Given the description of an element on the screen output the (x, y) to click on. 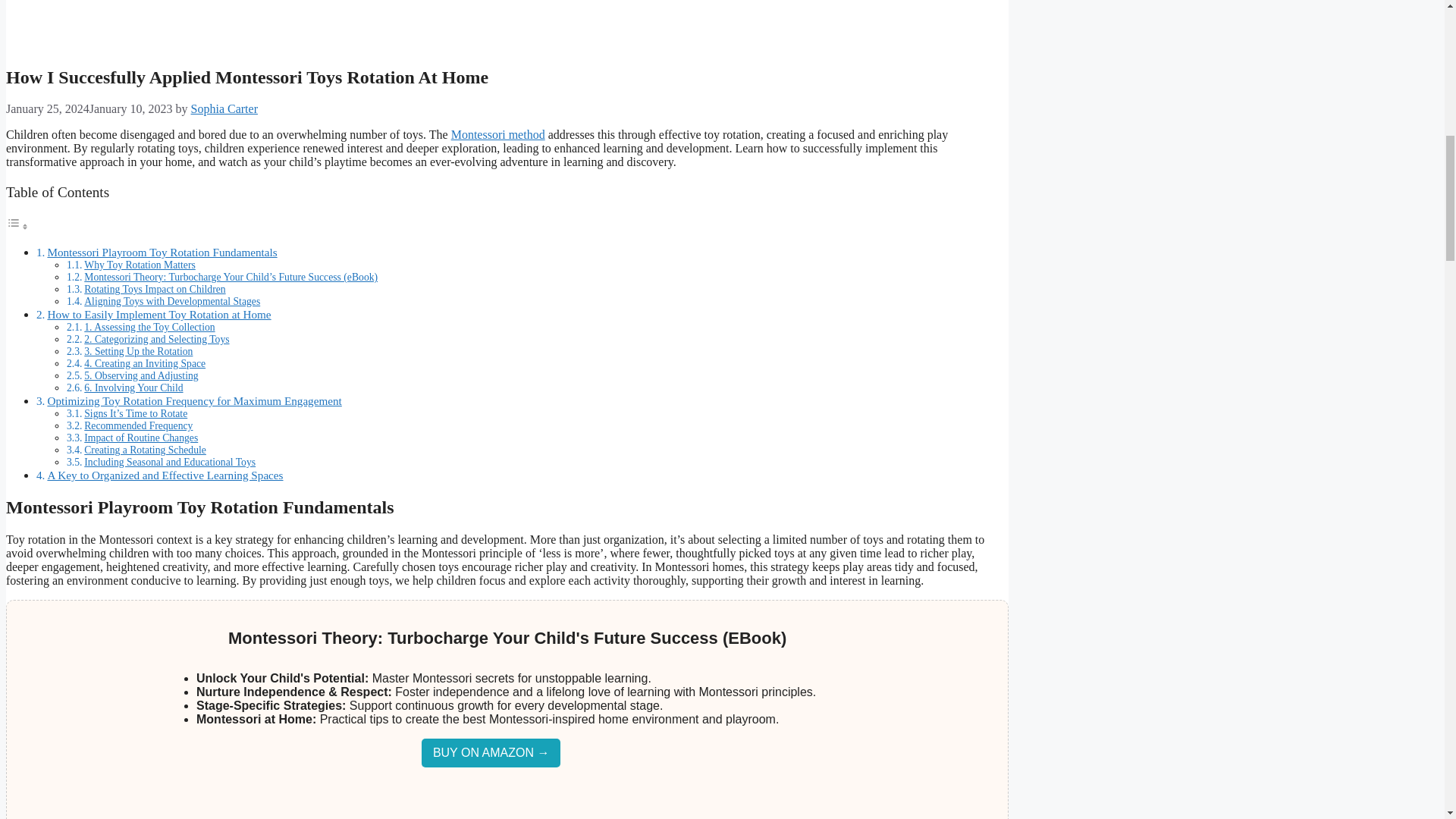
3. Setting Up the Rotation (138, 351)
Rotating Toys Impact on Children (154, 288)
Why Toy Rotation Matters (139, 265)
Including Seasonal and Educational Toys (170, 461)
1. Assessing the Toy Collection (149, 326)
Aligning Toys with Developmental Stages (172, 301)
Why Toy Rotation Matters (139, 265)
A Key to Organized and Effective Learning Spaces (164, 474)
Montessori Playroom Toy Rotation Fundamentals (161, 251)
5. Observing and Adjusting (141, 375)
